Given the description of an element on the screen output the (x, y) to click on. 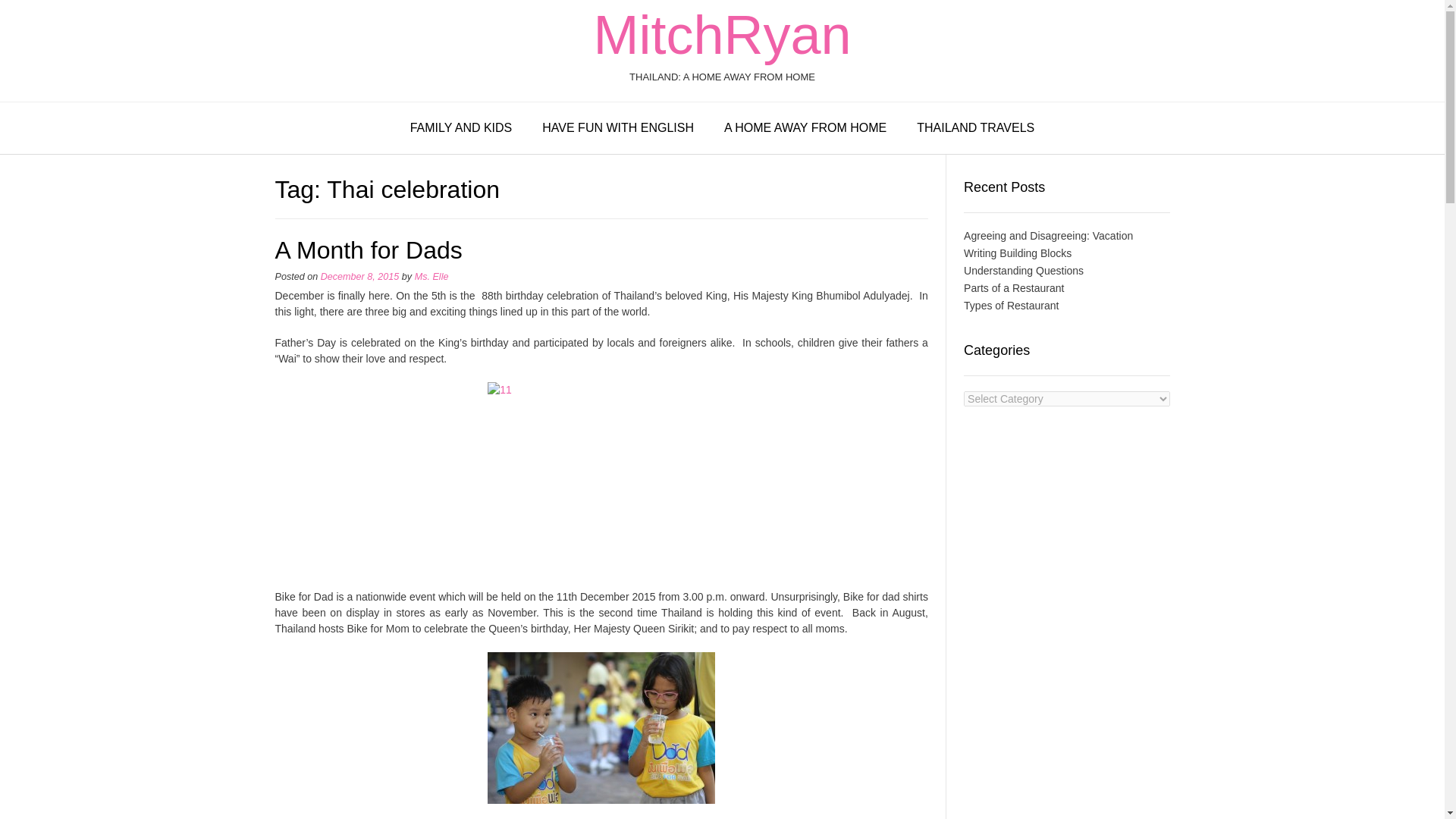
December 8, 2015 (359, 276)
THAILAND TRAVELS (975, 128)
A Month for Dads (368, 249)
MitchRyan (721, 34)
Ms. Elle (431, 276)
FAMILY AND KIDS (460, 128)
MitchRyan (721, 34)
HAVE FUN WITH ENGLISH (618, 128)
A HOME AWAY FROM HOME (805, 128)
